Given the description of an element on the screen output the (x, y) to click on. 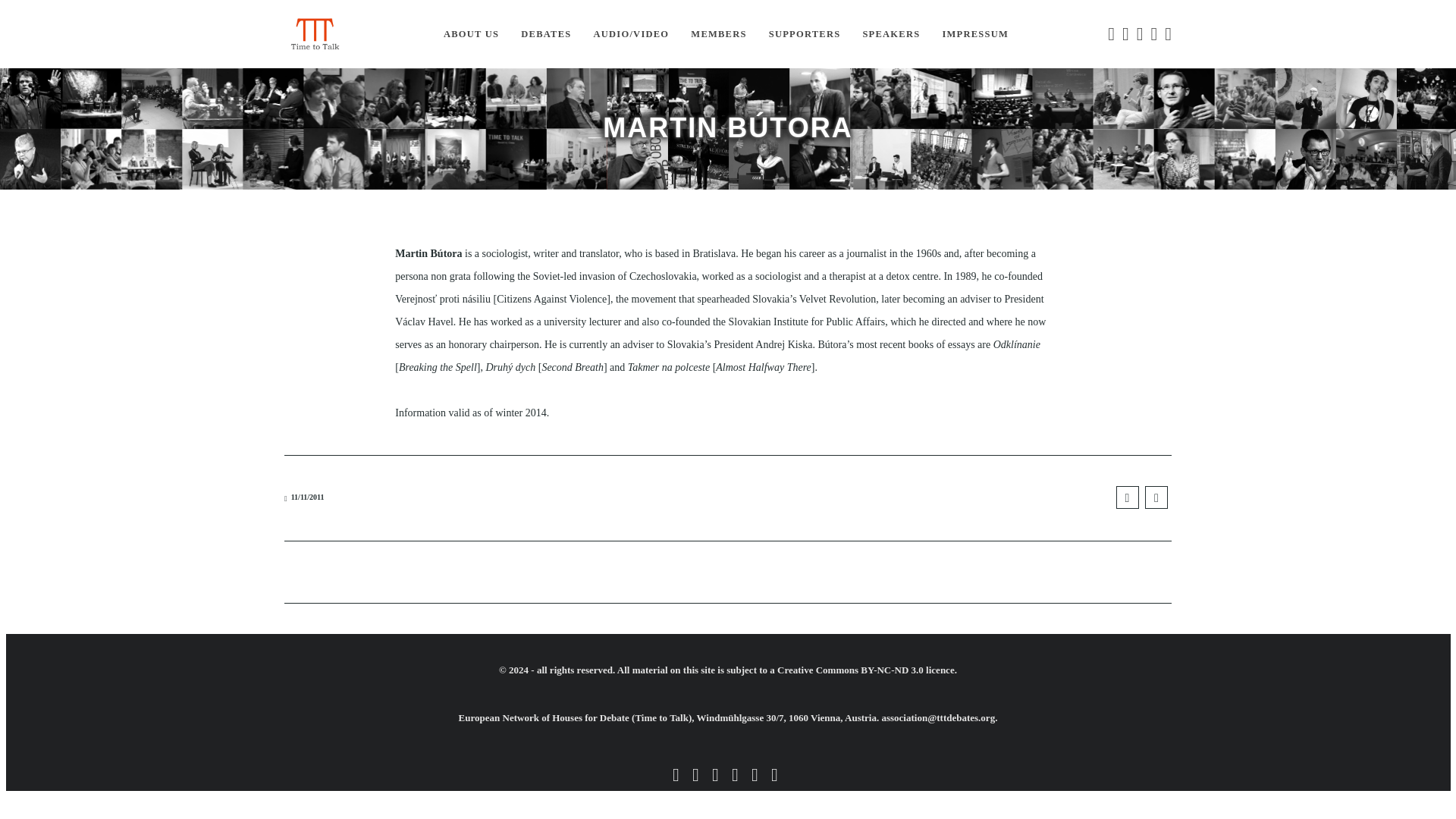
Time To Talk (314, 33)
IMPRESSUM (975, 33)
MEMBERS (718, 33)
SPEAKERS (890, 33)
DEBATES (545, 33)
SUPPORTERS (805, 33)
ABOUT US (470, 33)
